Given the description of an element on the screen output the (x, y) to click on. 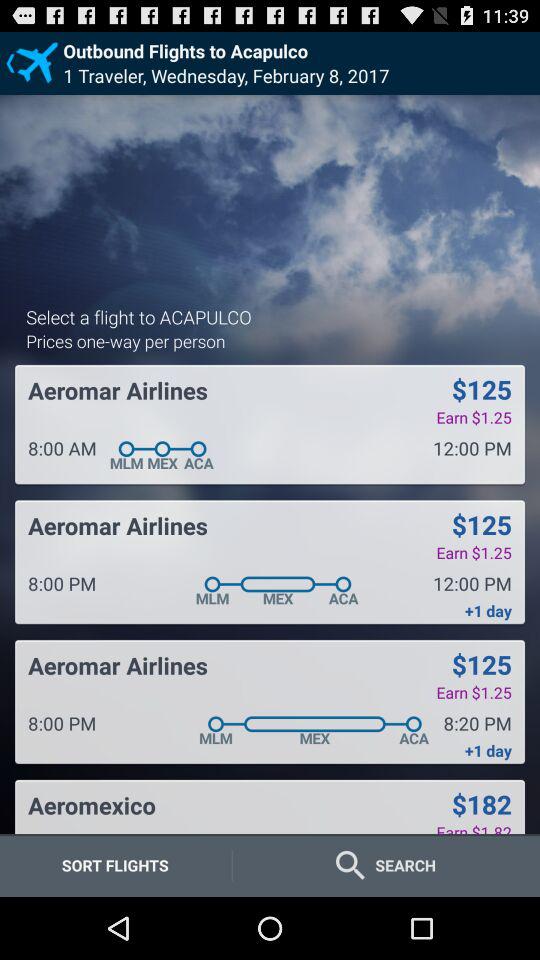
launch aeromexico icon (92, 805)
